Given the description of an element on the screen output the (x, y) to click on. 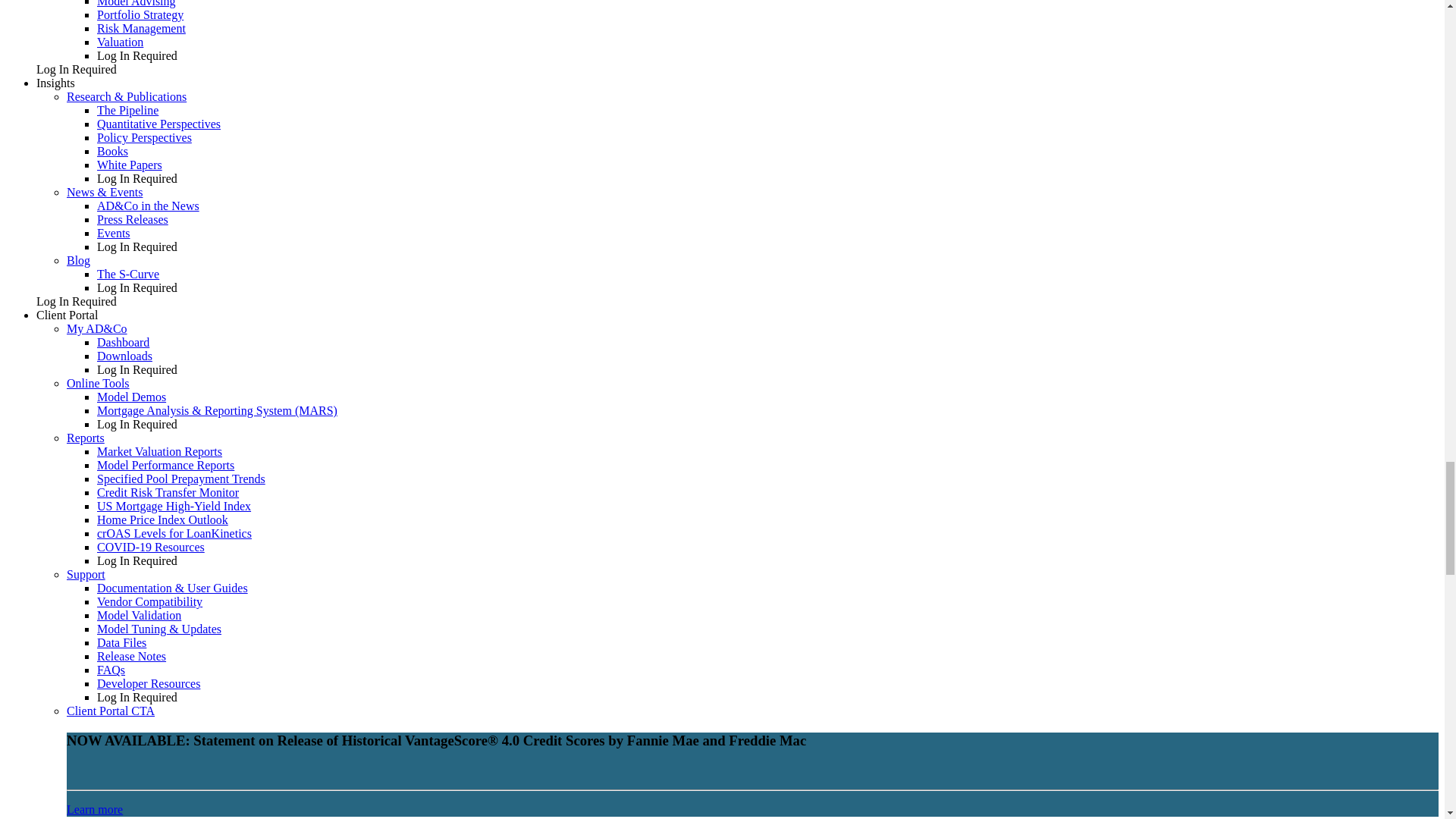
Presentations (114, 232)
